Given the description of an element on the screen output the (x, y) to click on. 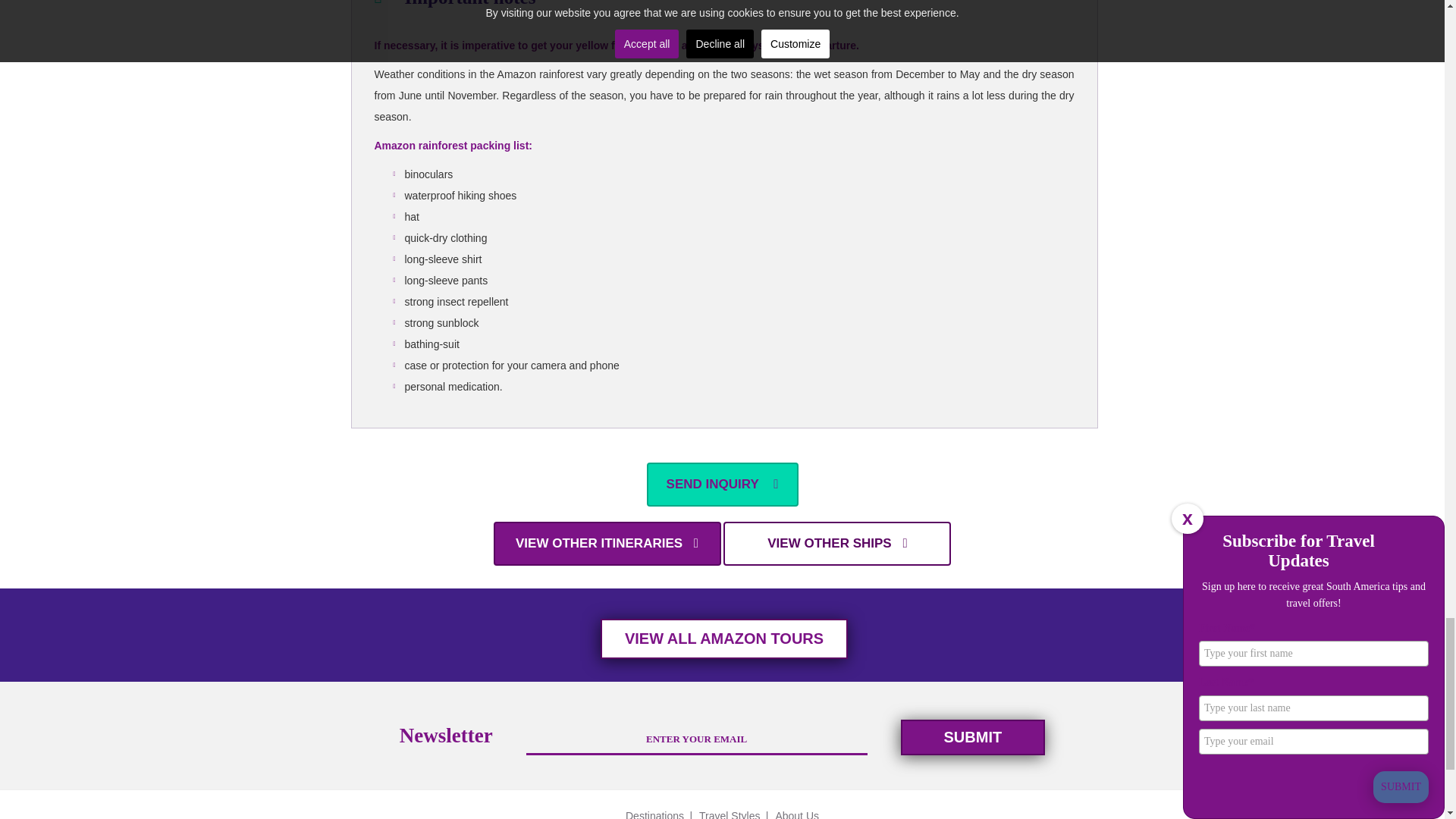
Submit (973, 737)
